Given the description of an element on the screen output the (x, y) to click on. 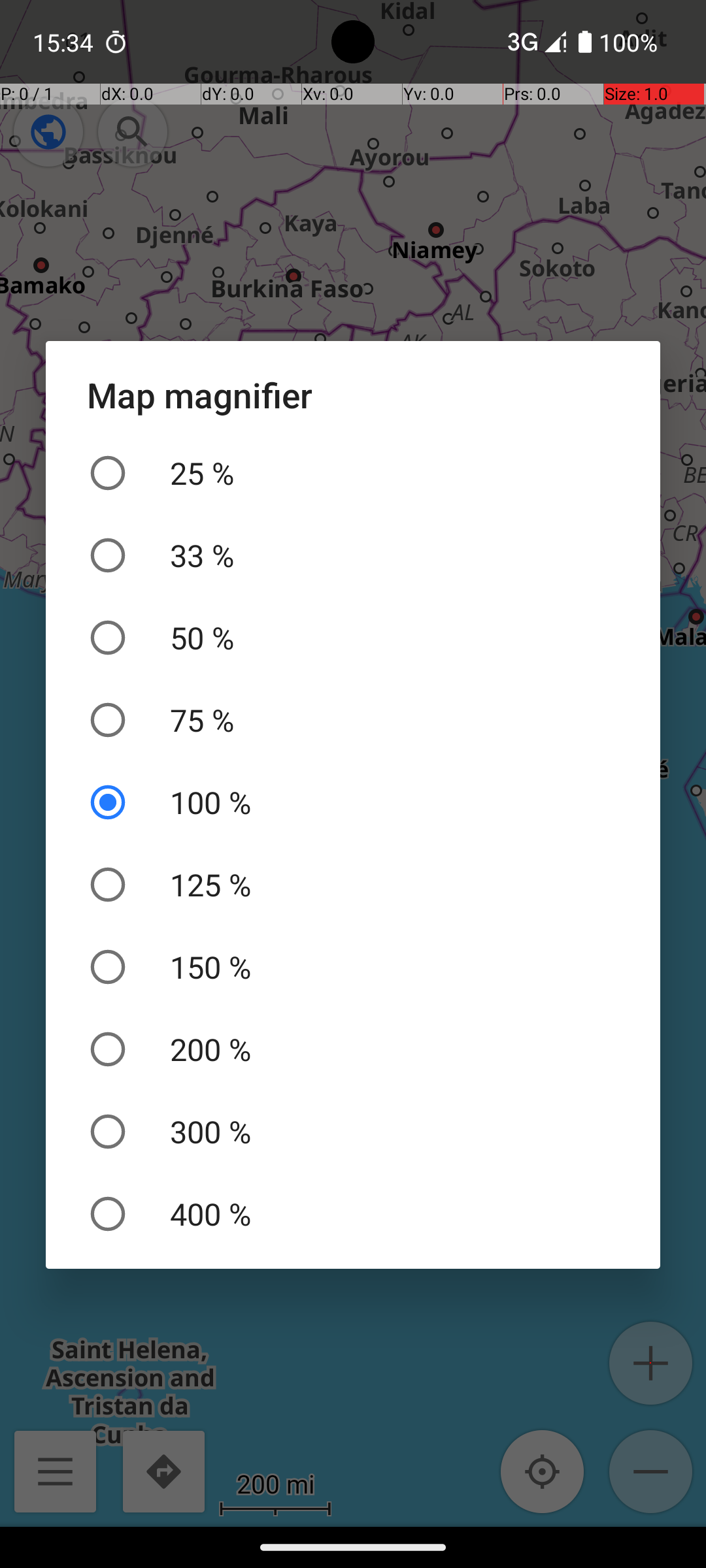
Map magnifier Element type: android.widget.TextView (352, 394)
25 % Element type: android.widget.CheckedTextView (352, 472)
33 % Element type: android.widget.CheckedTextView (352, 555)
50 % Element type: android.widget.CheckedTextView (352, 637)
75 % Element type: android.widget.CheckedTextView (352, 719)
100 % Element type: android.widget.CheckedTextView (352, 802)
125 % Element type: android.widget.CheckedTextView (352, 884)
150 % Element type: android.widget.CheckedTextView (352, 966)
200 % Element type: android.widget.CheckedTextView (352, 1049)
300 % Element type: android.widget.CheckedTextView (352, 1131)
400 % Element type: android.widget.CheckedTextView (352, 1213)
